Given the description of an element on the screen output the (x, y) to click on. 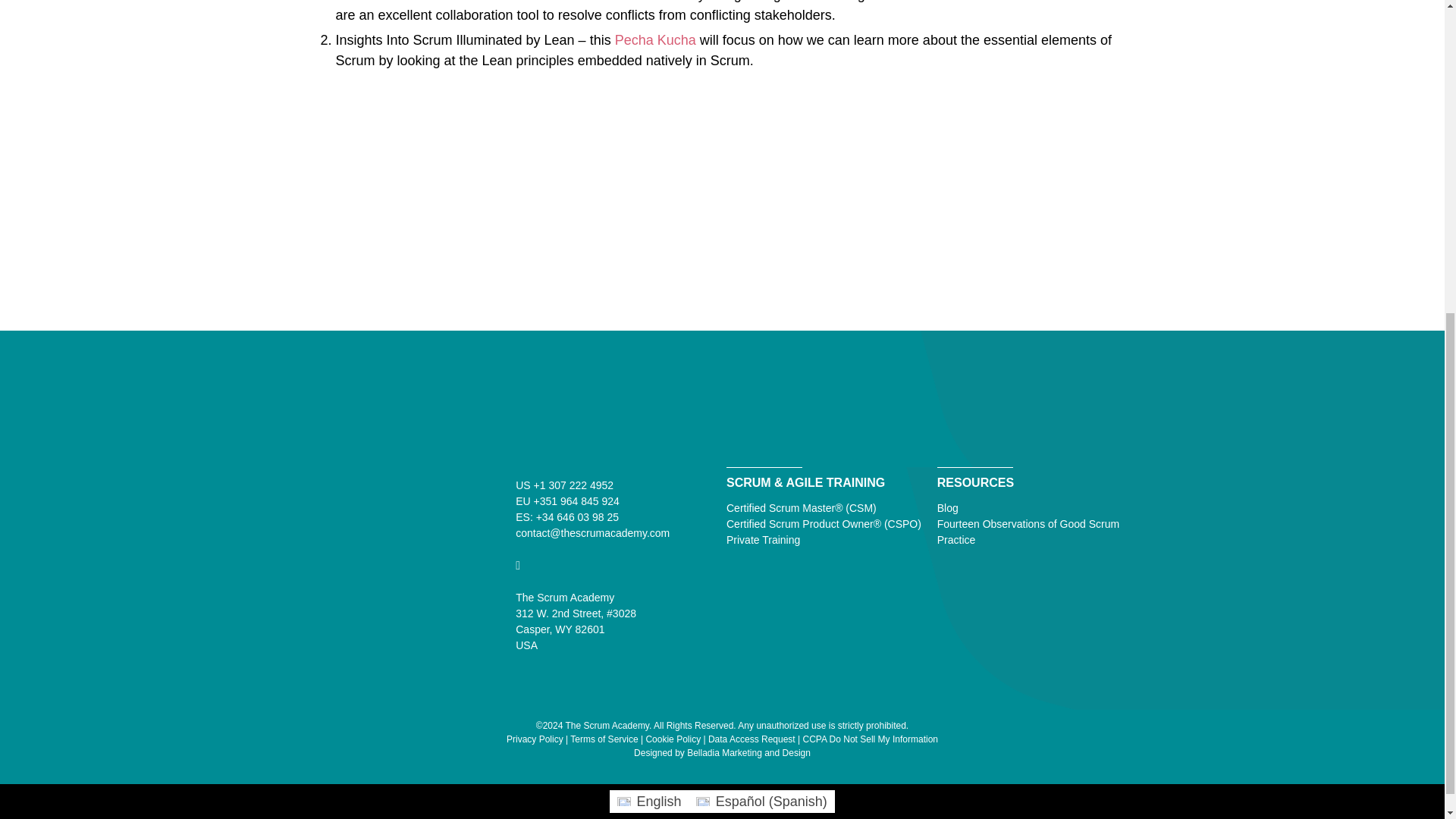
Scrum-Academy-Logo-White-Footer (511, 420)
